Given the description of an element on the screen output the (x, y) to click on. 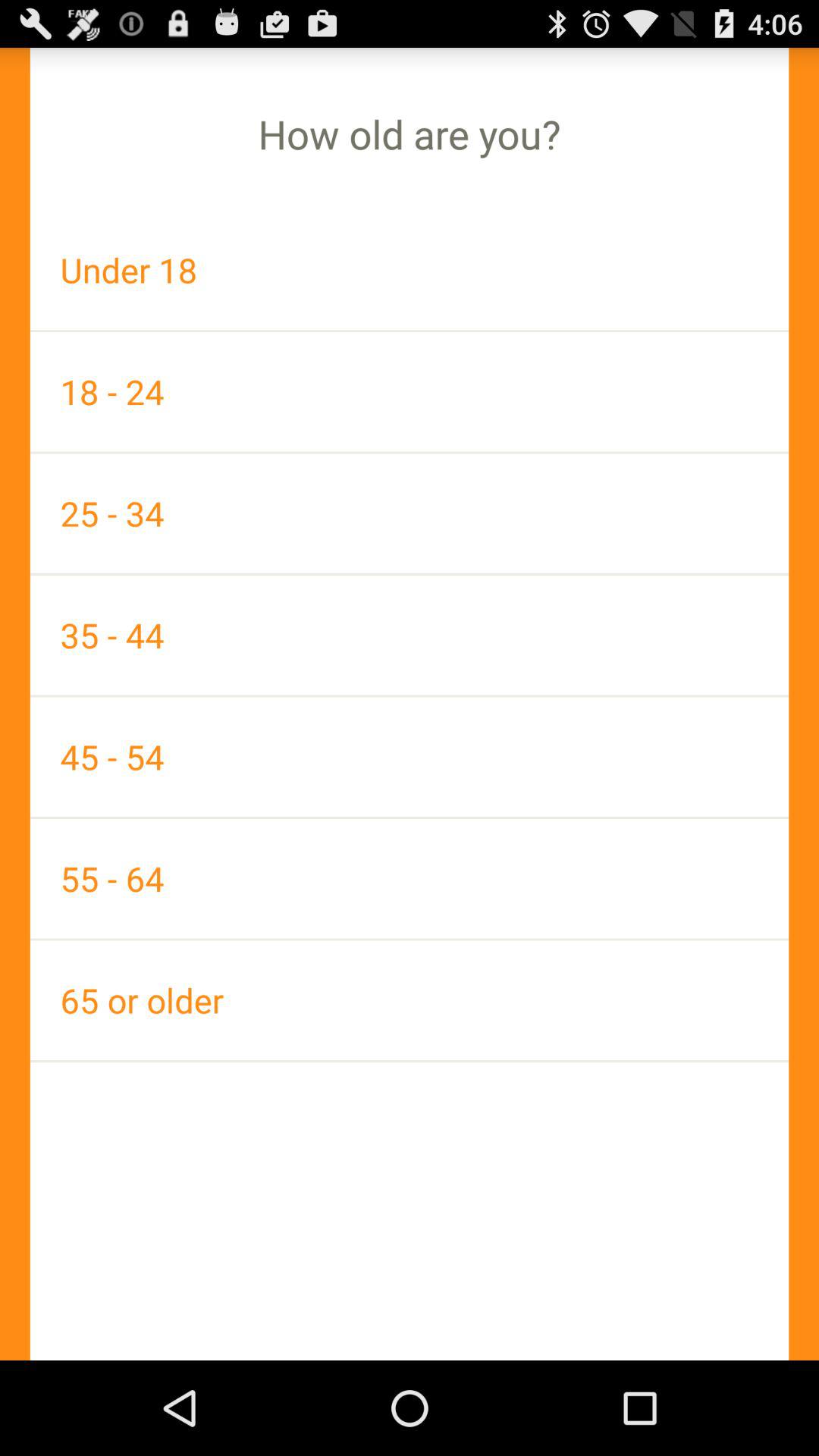
flip until the under 18 item (409, 269)
